Given the description of an element on the screen output the (x, y) to click on. 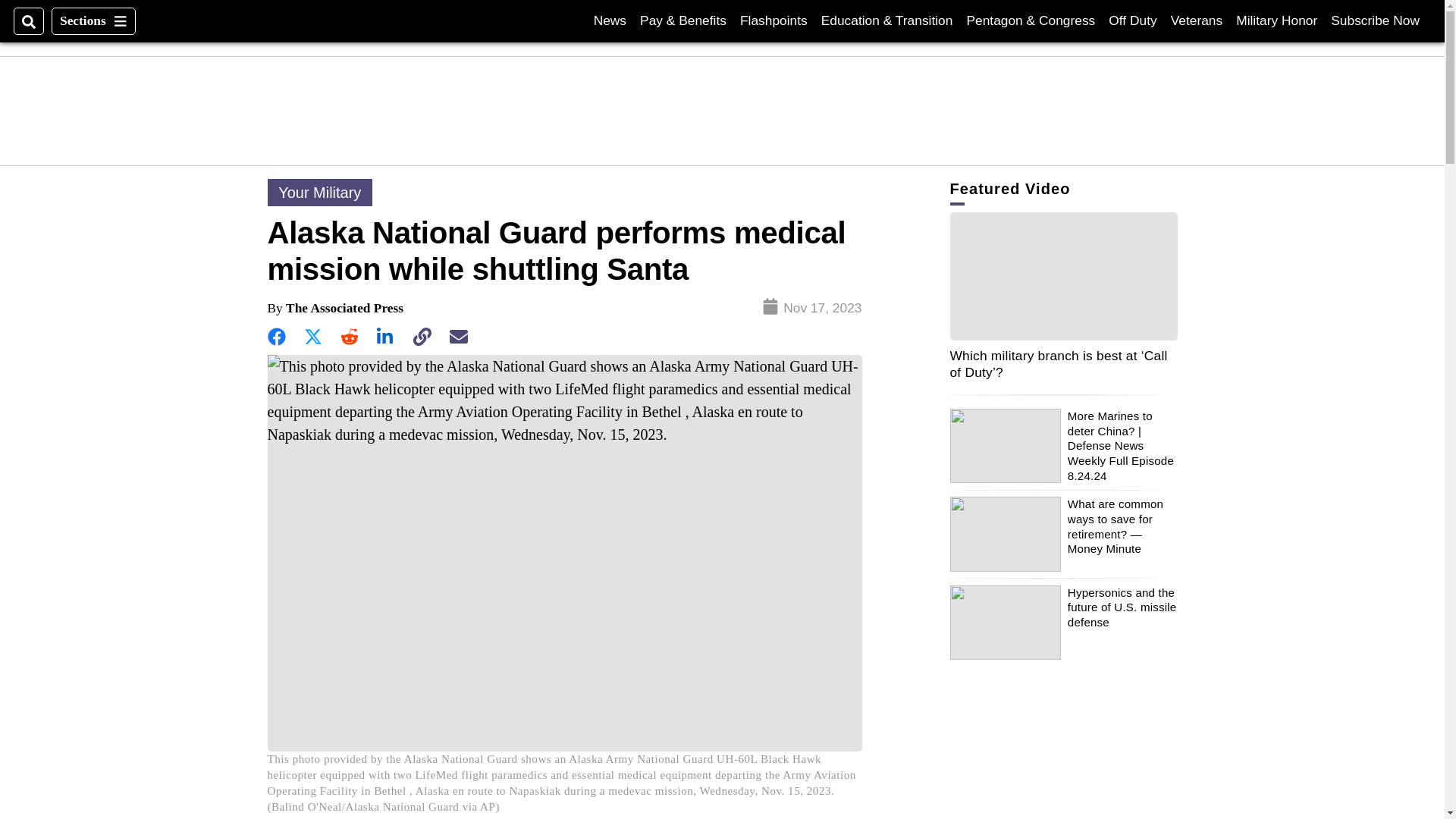
News (610, 20)
Veterans (1196, 20)
Sections (92, 21)
Off Duty (1374, 20)
Flashpoints (1132, 20)
Military Honor (773, 20)
